Given the description of an element on the screen output the (x, y) to click on. 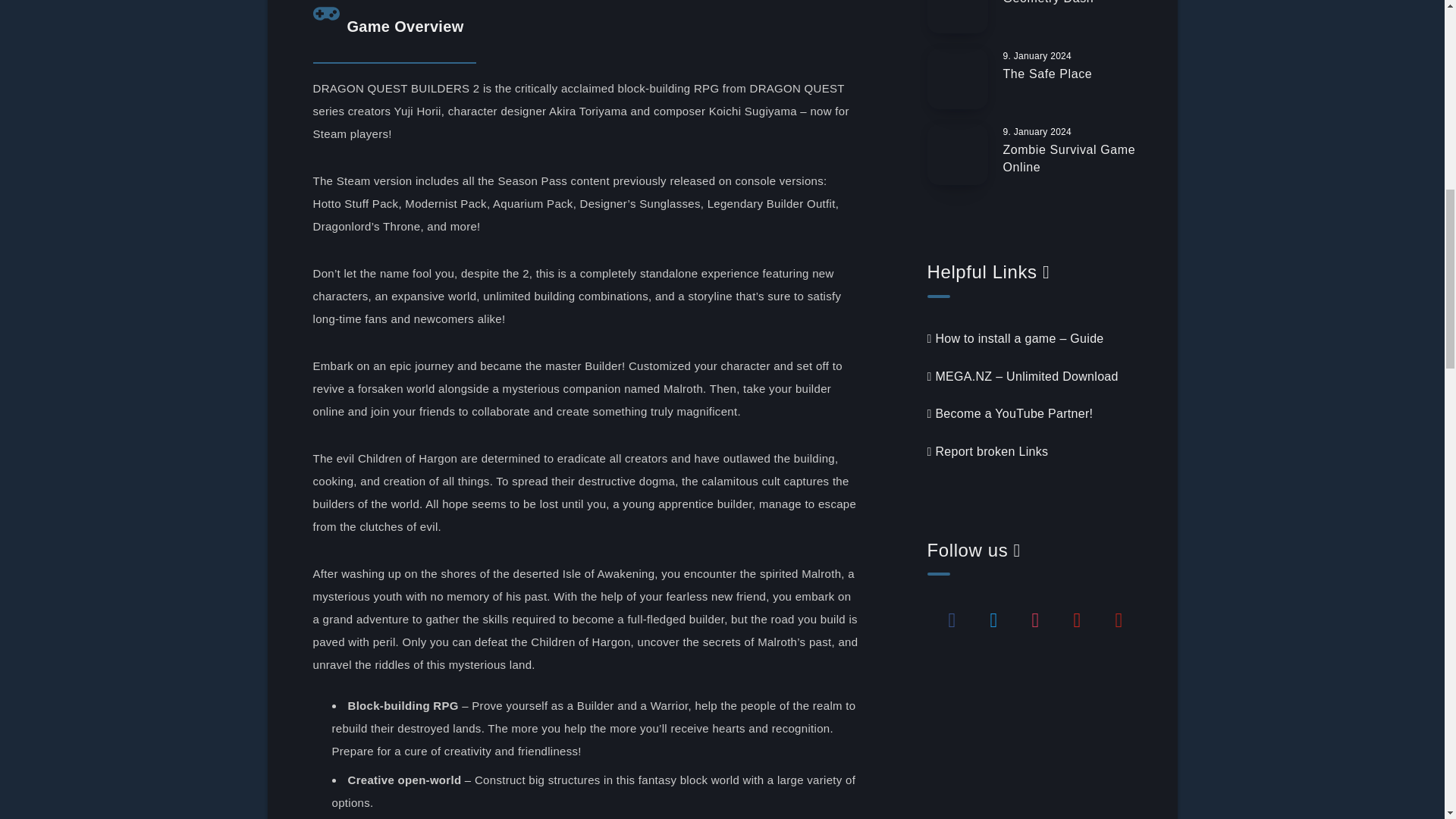
The Safe Place (1047, 75)
Zombie Survival Game Online (1069, 160)
Geometry Dash (1048, 4)
